Given the description of an element on the screen output the (x, y) to click on. 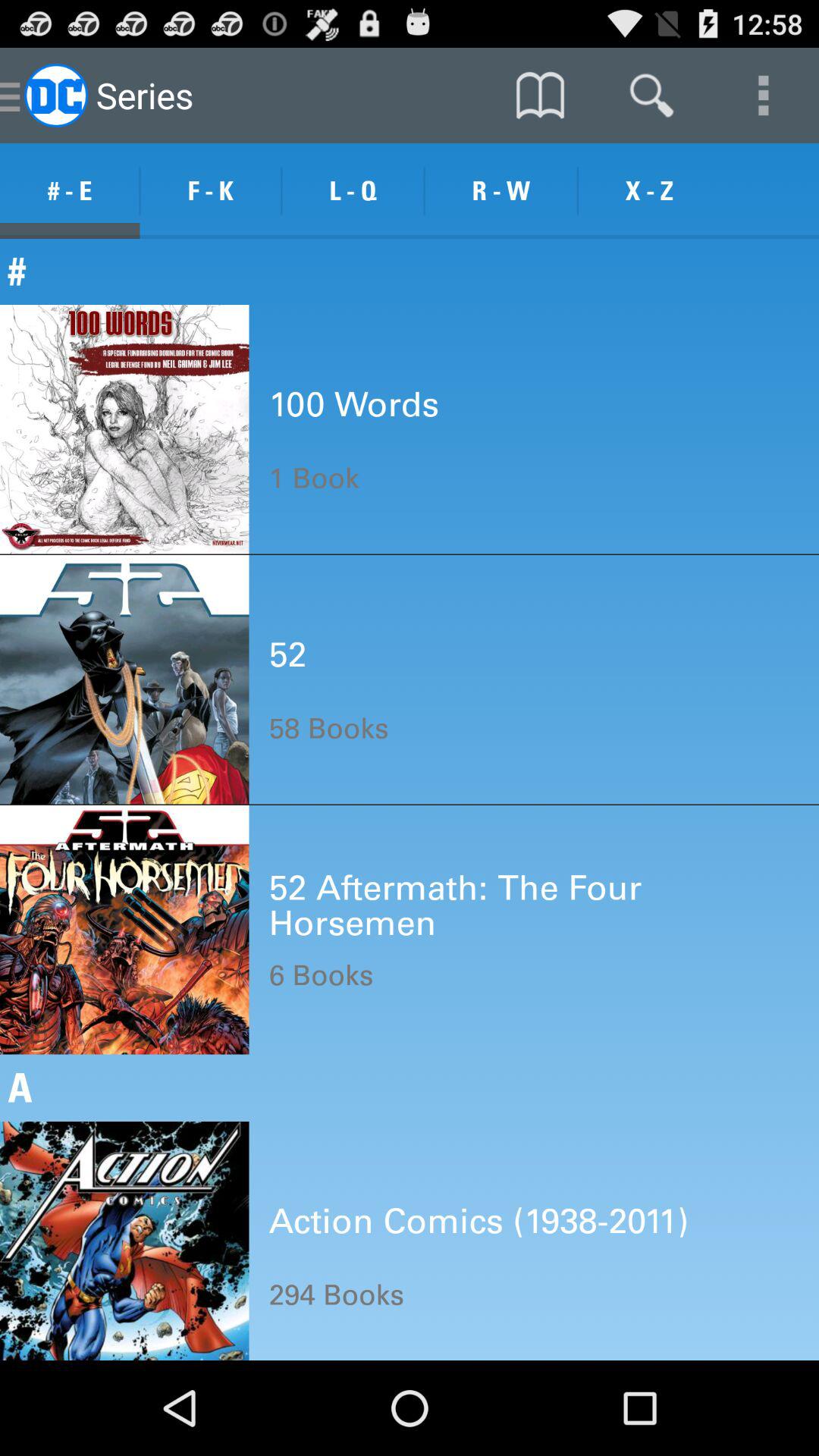
tap the icon to the right of r - w item (649, 190)
